Given the description of an element on the screen output the (x, y) to click on. 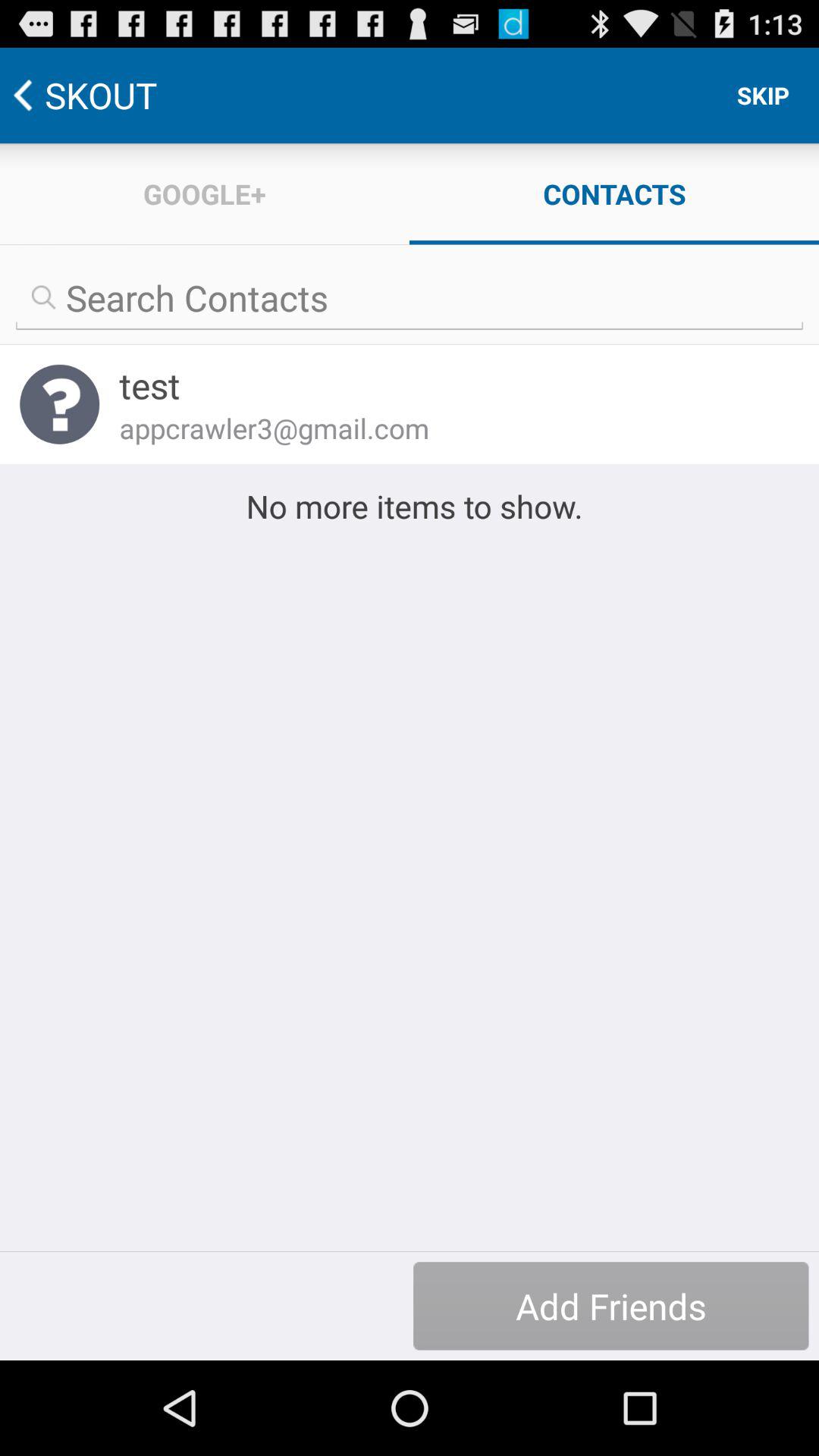
select button at the bottom right corner (610, 1306)
